Given the description of an element on the screen output the (x, y) to click on. 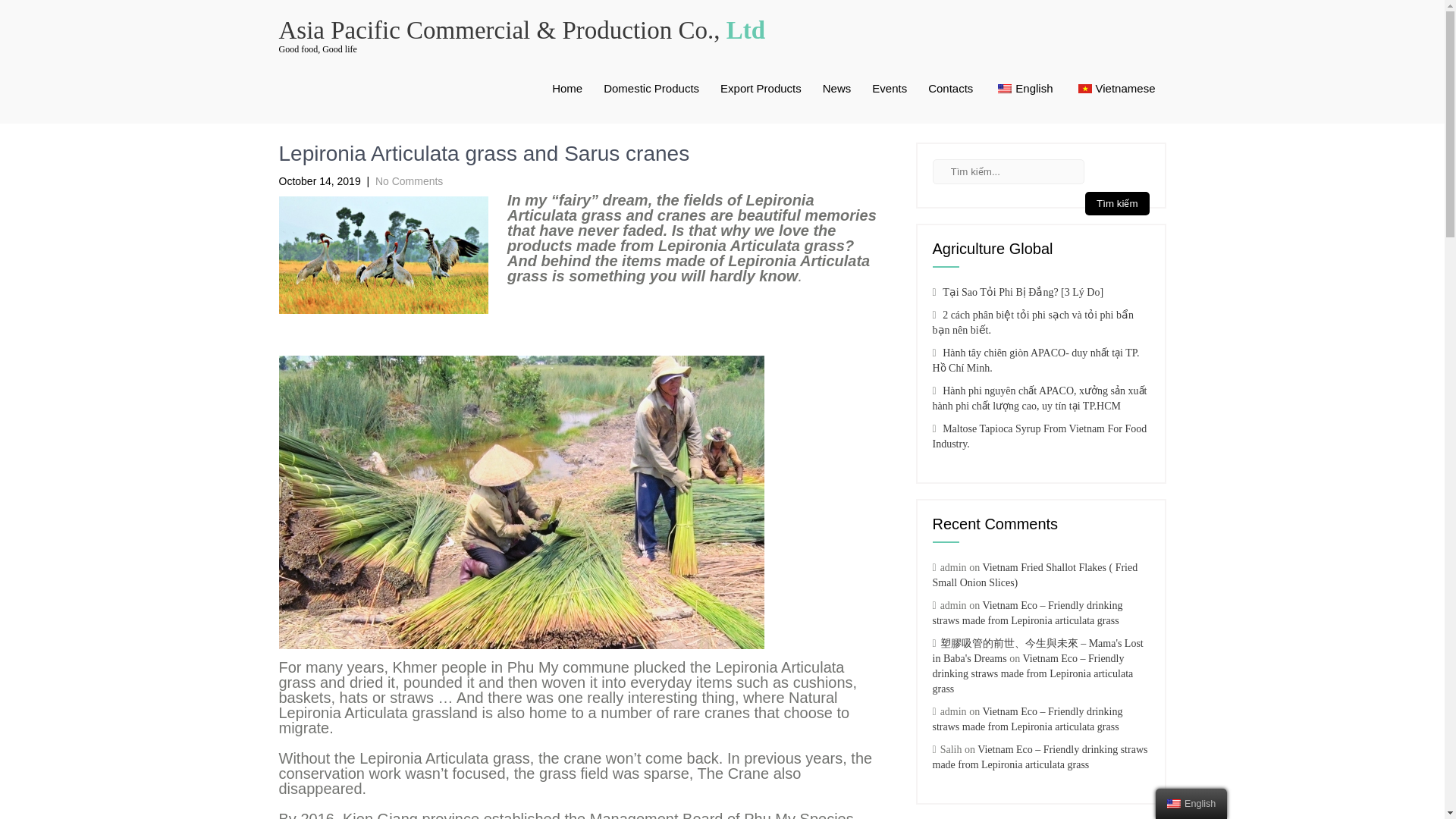
Domestic Products (651, 89)
English (1004, 88)
Vietnamese (1115, 89)
English (1023, 89)
Vietnamese (1085, 88)
English (1173, 803)
Export Products (761, 89)
Contacts (950, 89)
No Comments (408, 181)
